Given the description of an element on the screen output the (x, y) to click on. 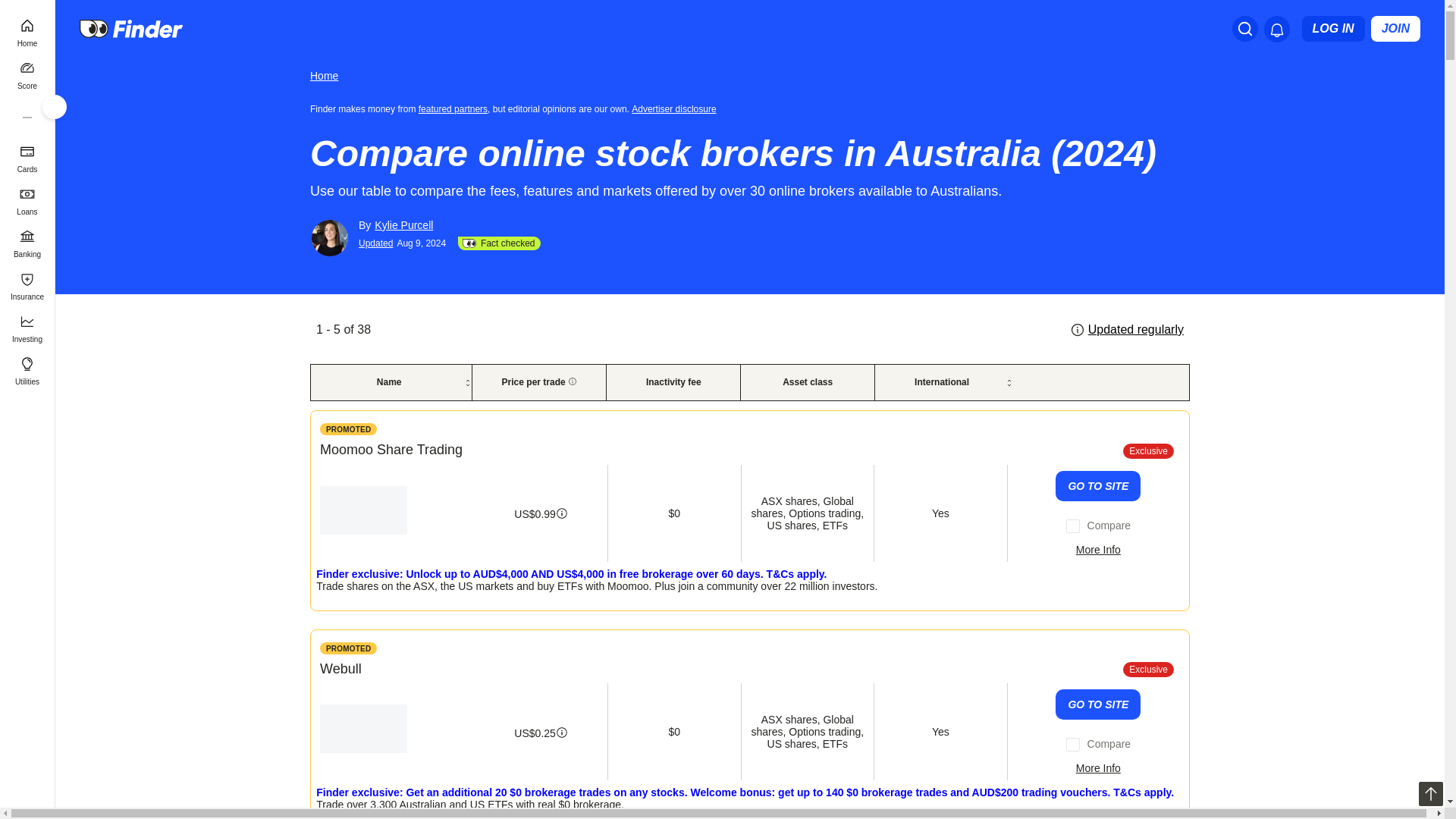
Read More About The Webull (1097, 767)
Apply Now For The Webull (1097, 704)
Important information about this website (348, 648)
Important information about this website (348, 428)
Important information about this website (676, 108)
Apply Now For The Moomoo Share Trading (1097, 485)
Read More About The Moomoo Share Trading (1097, 549)
